Given the description of an element on the screen output the (x, y) to click on. 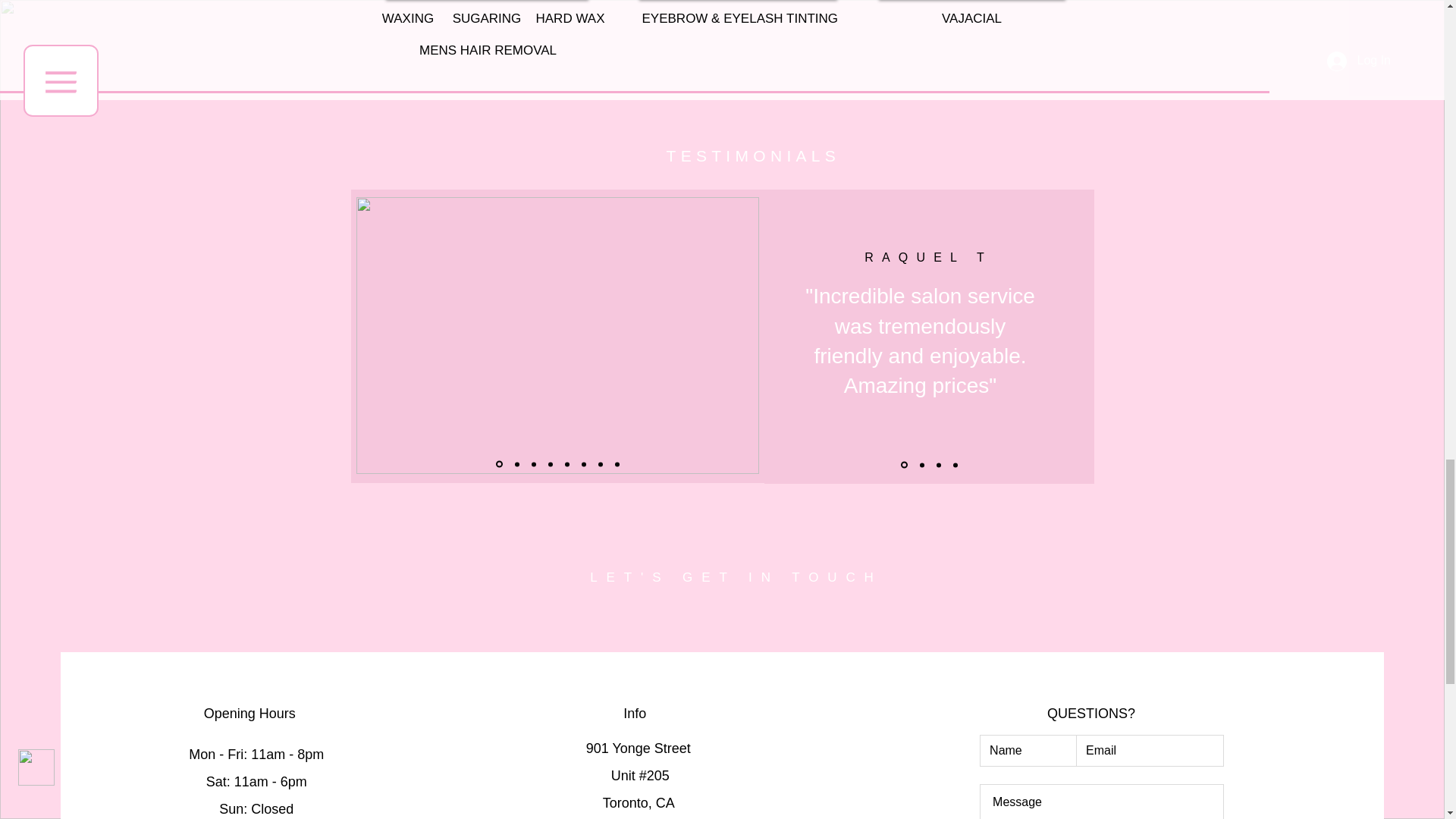
SUGARING (486, 18)
e1ea0e7e-b17b-42f8-9795-a72f0a390336.jpg (557, 335)
VAJACIAL (970, 19)
MENS HAIR REMOVAL (487, 50)
HARD WAX (569, 18)
WAXING (407, 18)
